Given the description of an element on the screen output the (x, y) to click on. 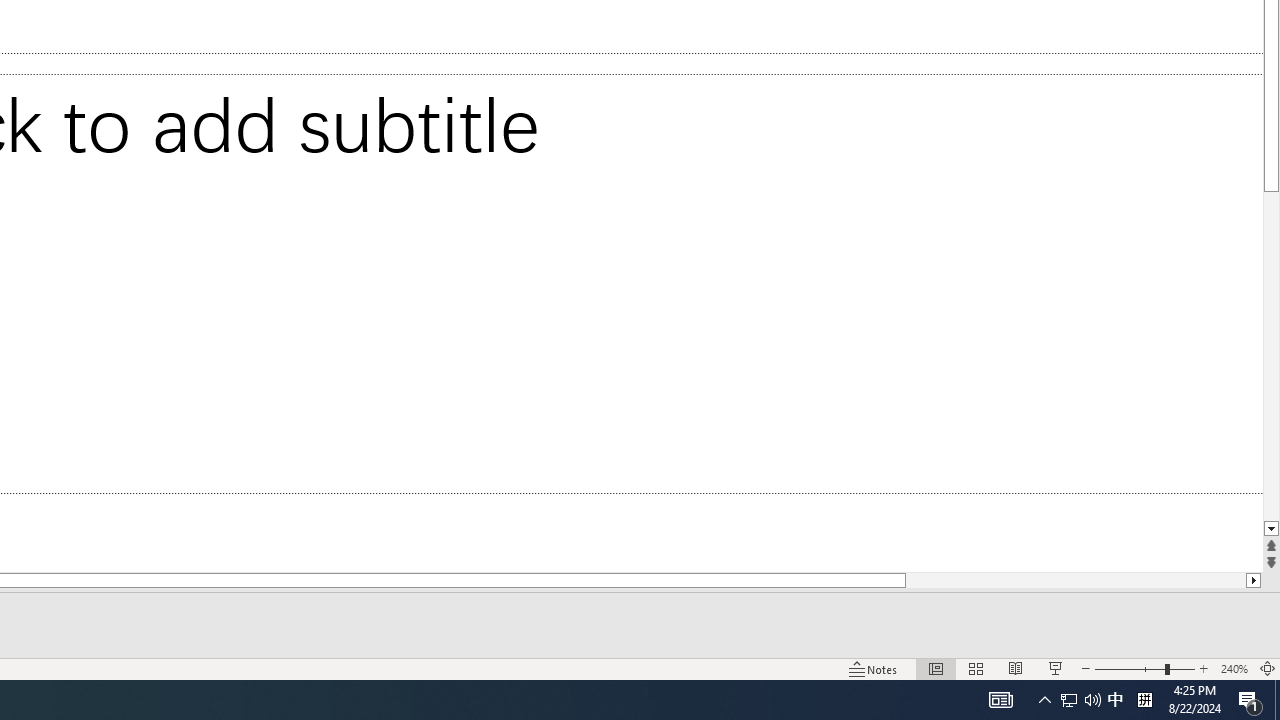
Zoom 240% (1234, 668)
